Given the description of an element on the screen output the (x, y) to click on. 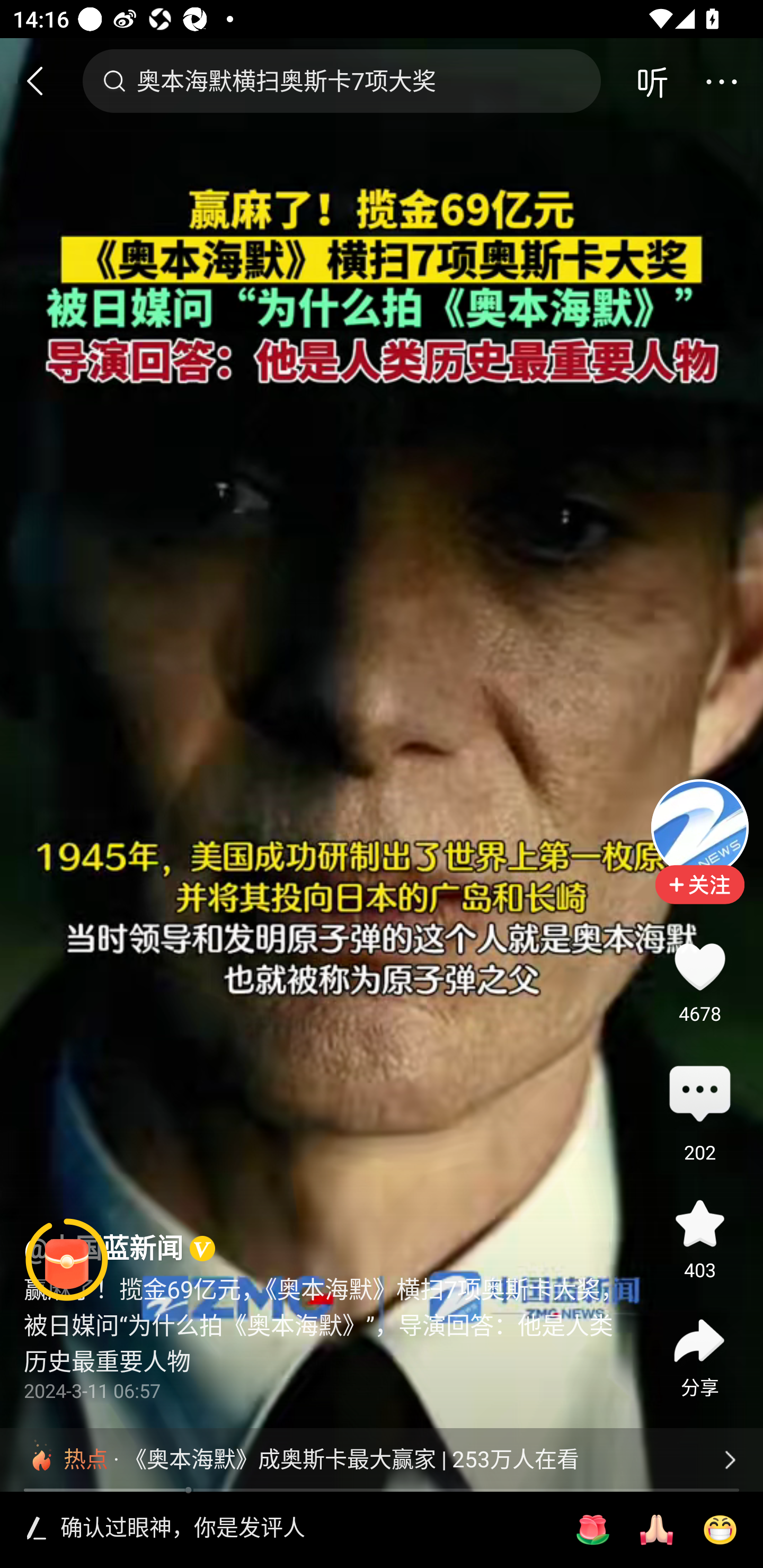
奥本海默横扫奥斯卡7项大奖 搜索框，奥本海默横扫奥斯卡7项大奖 (341, 80)
返回 (43, 80)
音频 (651, 80)
更多操作 (720, 80)
头像 (699, 827)
点赞4678 4678 (699, 966)
评论202 评论 202 (699, 1095)
收藏 403 (699, 1223)
阅读赚金币 (66, 1259)
分享 (699, 1341)
热点  · 《奥本海默》成奥斯卡最大赢家  | 253万人在看 (381, 1459)
确认过眼神，你是发评人 (305, 1529)
[玫瑰] (592, 1530)
[祈祷] (656, 1530)
[呲牙] (719, 1530)
